Given the description of an element on the screen output the (x, y) to click on. 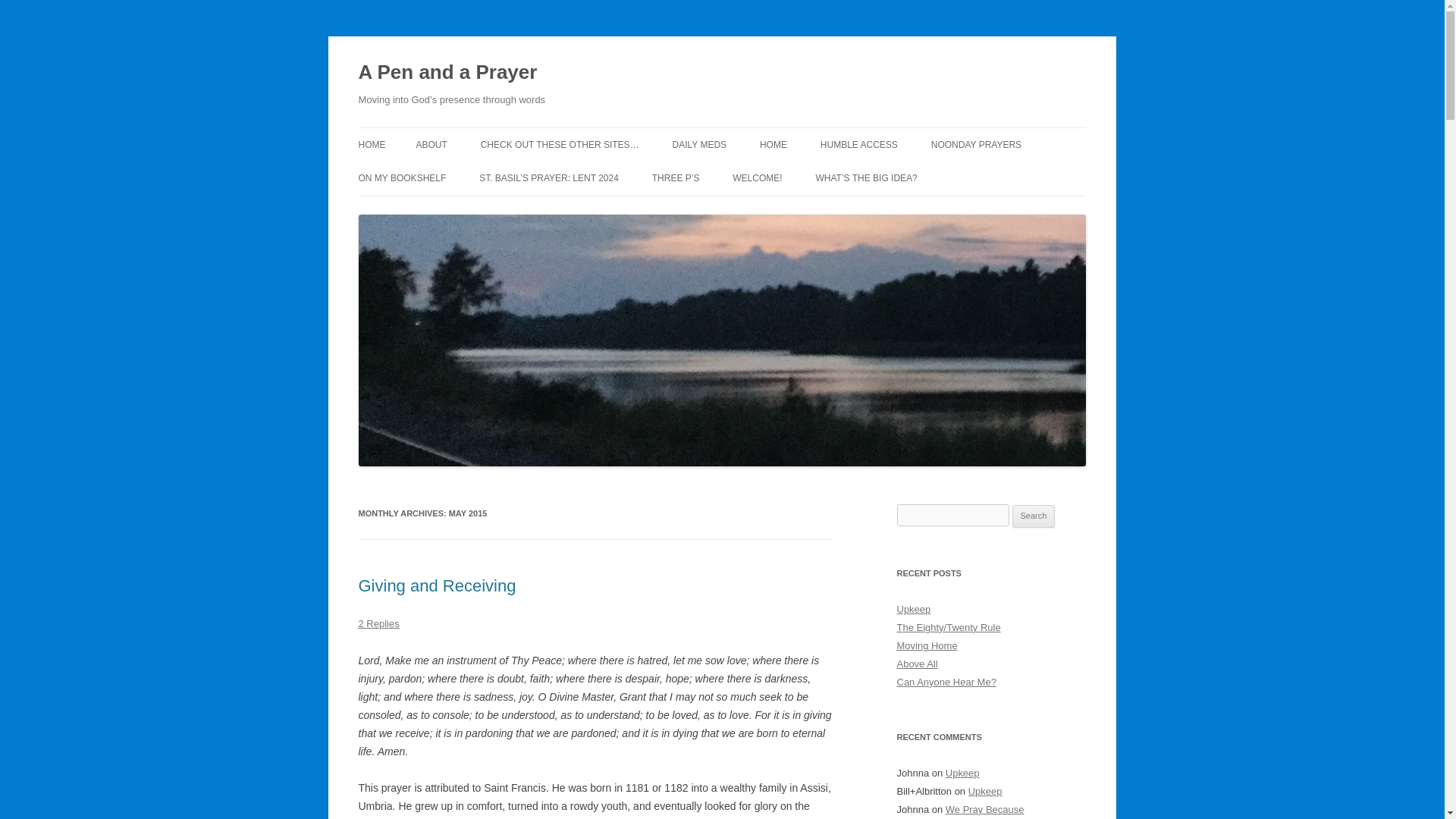
A MORNING RESOLVE (490, 176)
ABOUT (430, 144)
Search (1033, 516)
A Pen and a Prayer (447, 72)
